Given the description of an element on the screen output the (x, y) to click on. 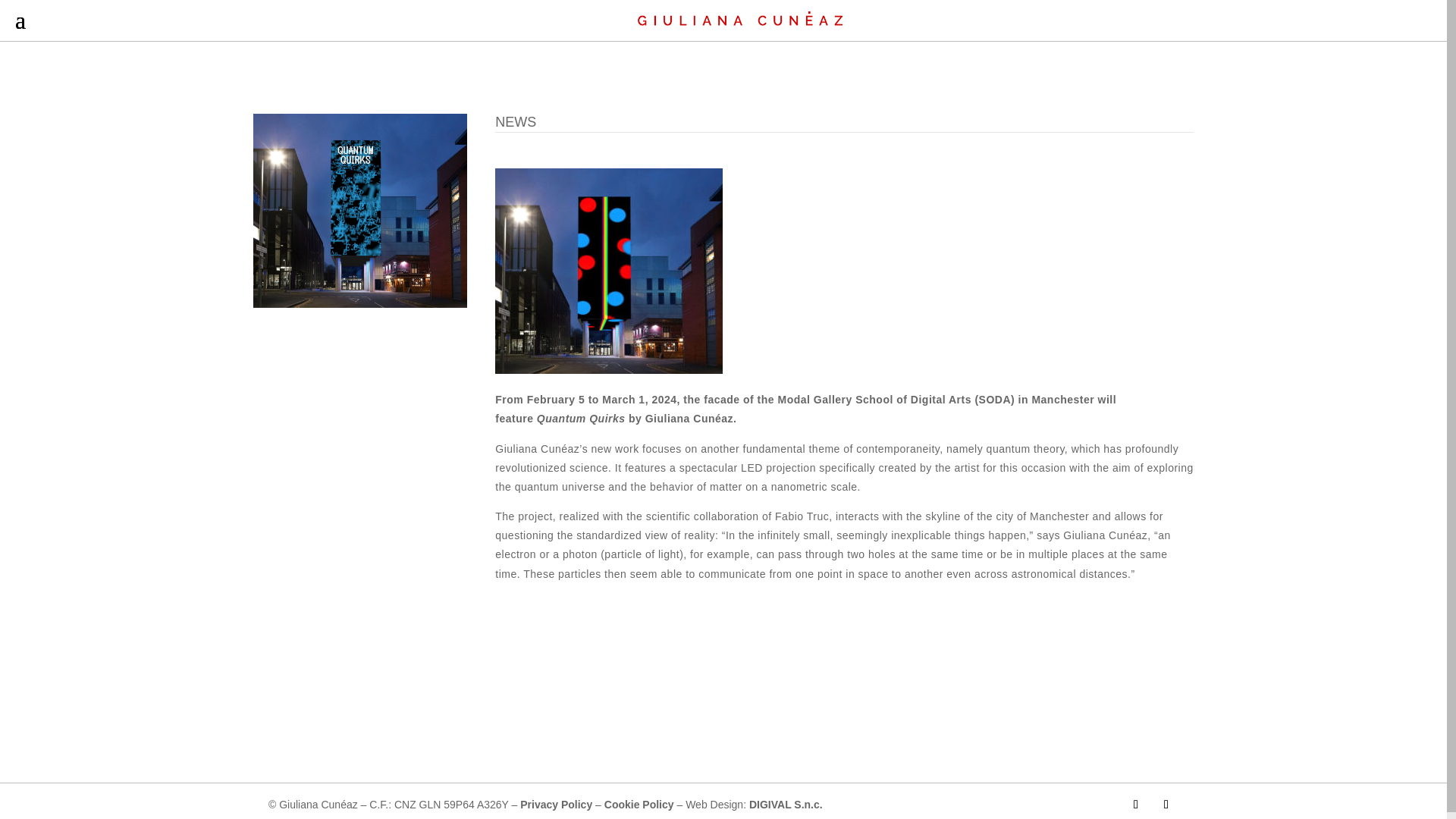
Copertina (360, 210)
Cookie Policy (639, 804)
Follow on LinkedIn (1165, 804)
Privacy Policy (555, 804)
Follow on Instagram (1136, 804)
DIGIVAL S.n.c. (785, 804)
